Given the description of an element on the screen output the (x, y) to click on. 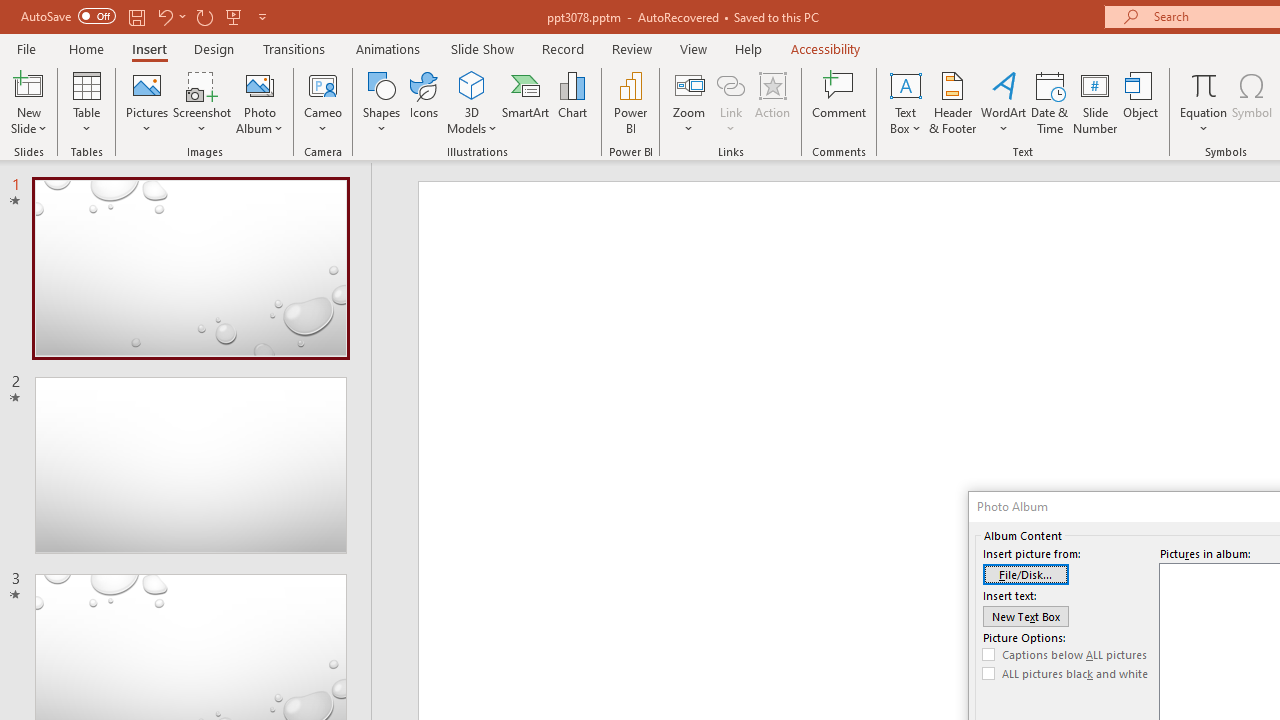
Table (86, 102)
ALL pictures black and white (1065, 673)
Slide Number (1095, 102)
New Text Box (1025, 615)
3D Models (472, 84)
New Photo Album... (259, 84)
